Given the description of an element on the screen output the (x, y) to click on. 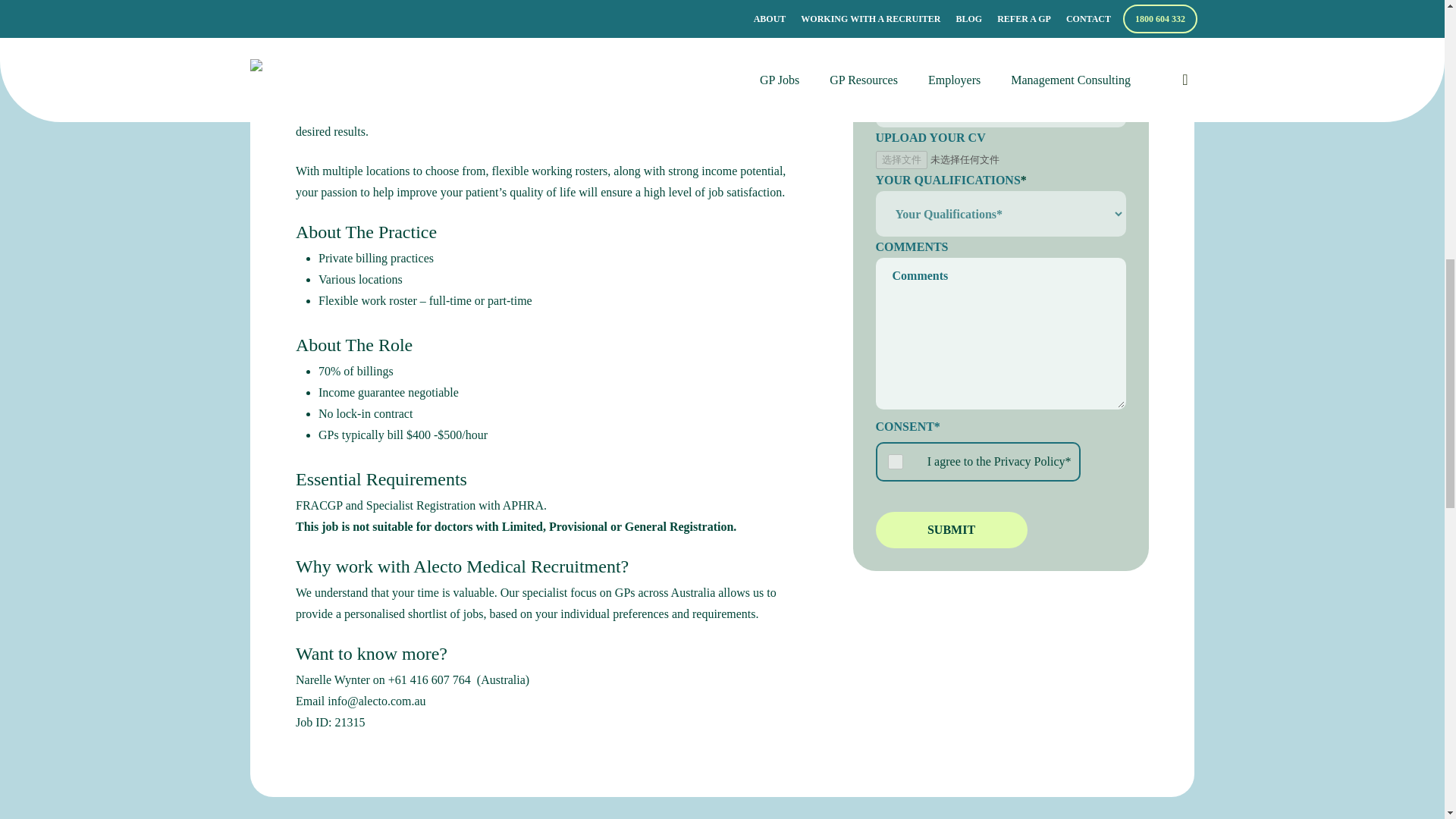
1 (894, 461)
Submit (950, 529)
